Given the description of an element on the screen output the (x, y) to click on. 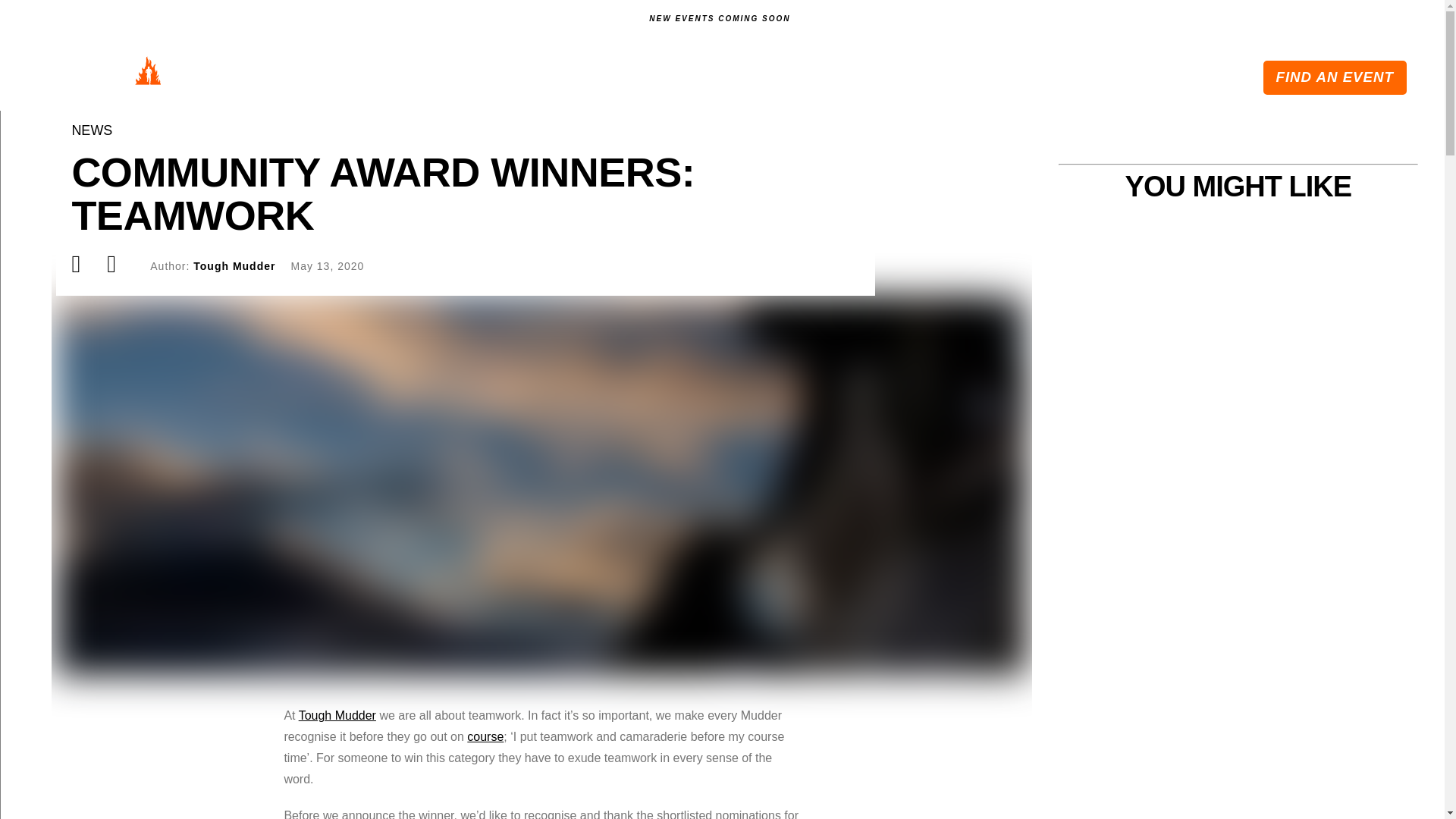
Tough Mudder (336, 715)
course (485, 736)
Tough Mudder Logo (121, 73)
FIND AN EVENT (1334, 77)
